Given the description of an element on the screen output the (x, y) to click on. 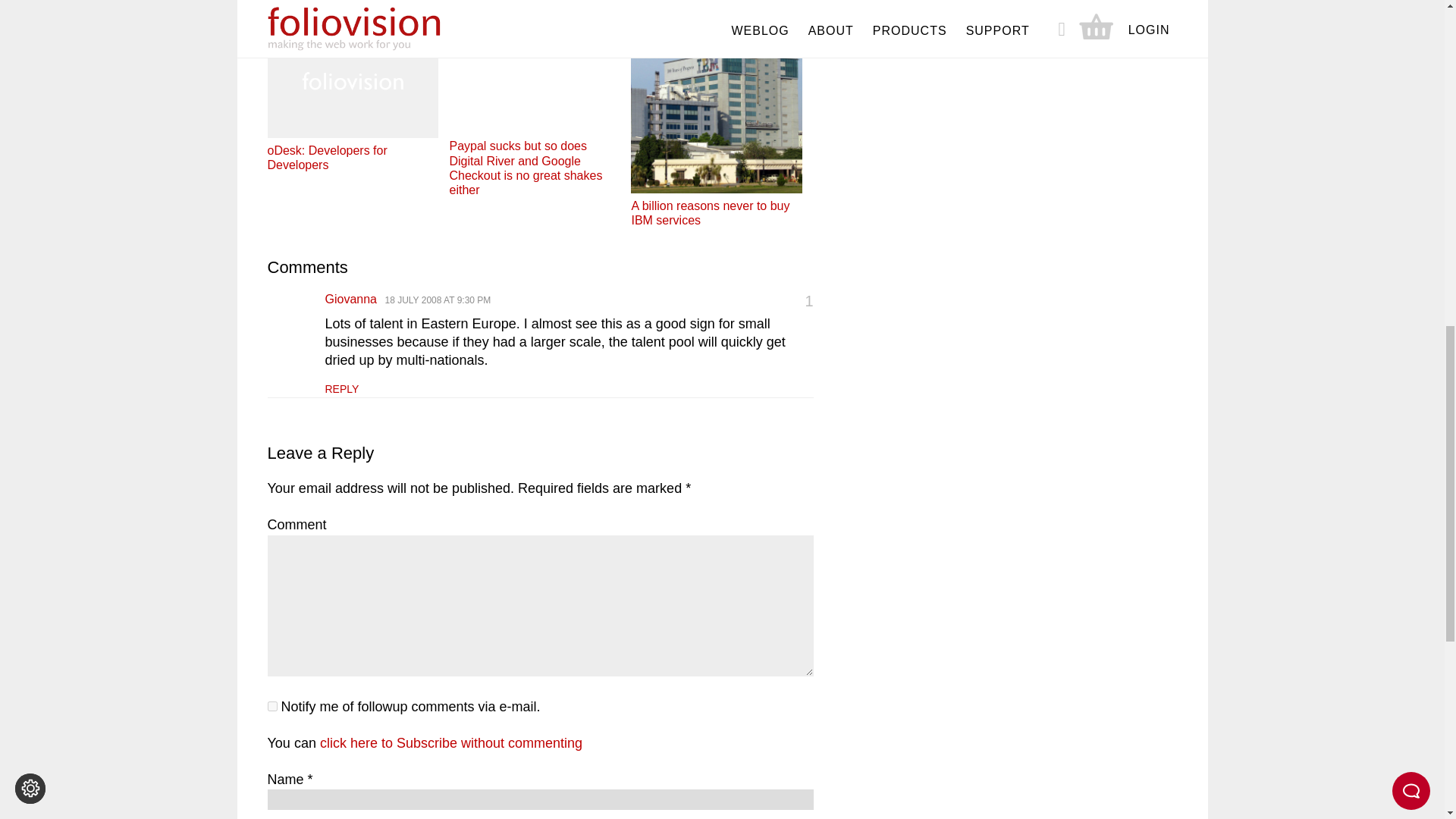
oDesk: Developers for Developers (352, 97)
1 (271, 706)
oDesk: Developers for Developers (352, 97)
Giovanna (350, 298)
